Given the description of an element on the screen output the (x, y) to click on. 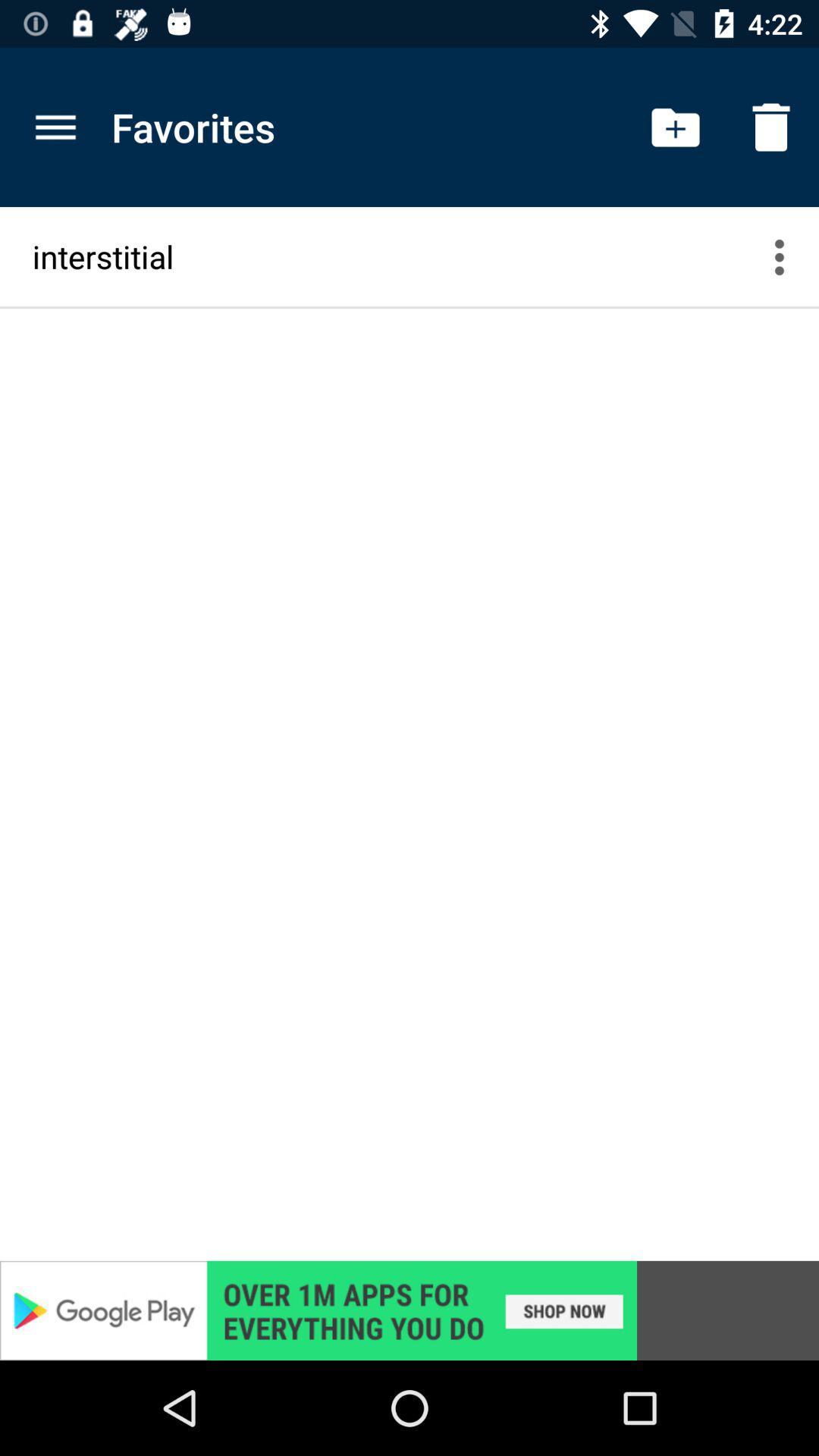
google play app (409, 1310)
